Given the description of an element on the screen output the (x, y) to click on. 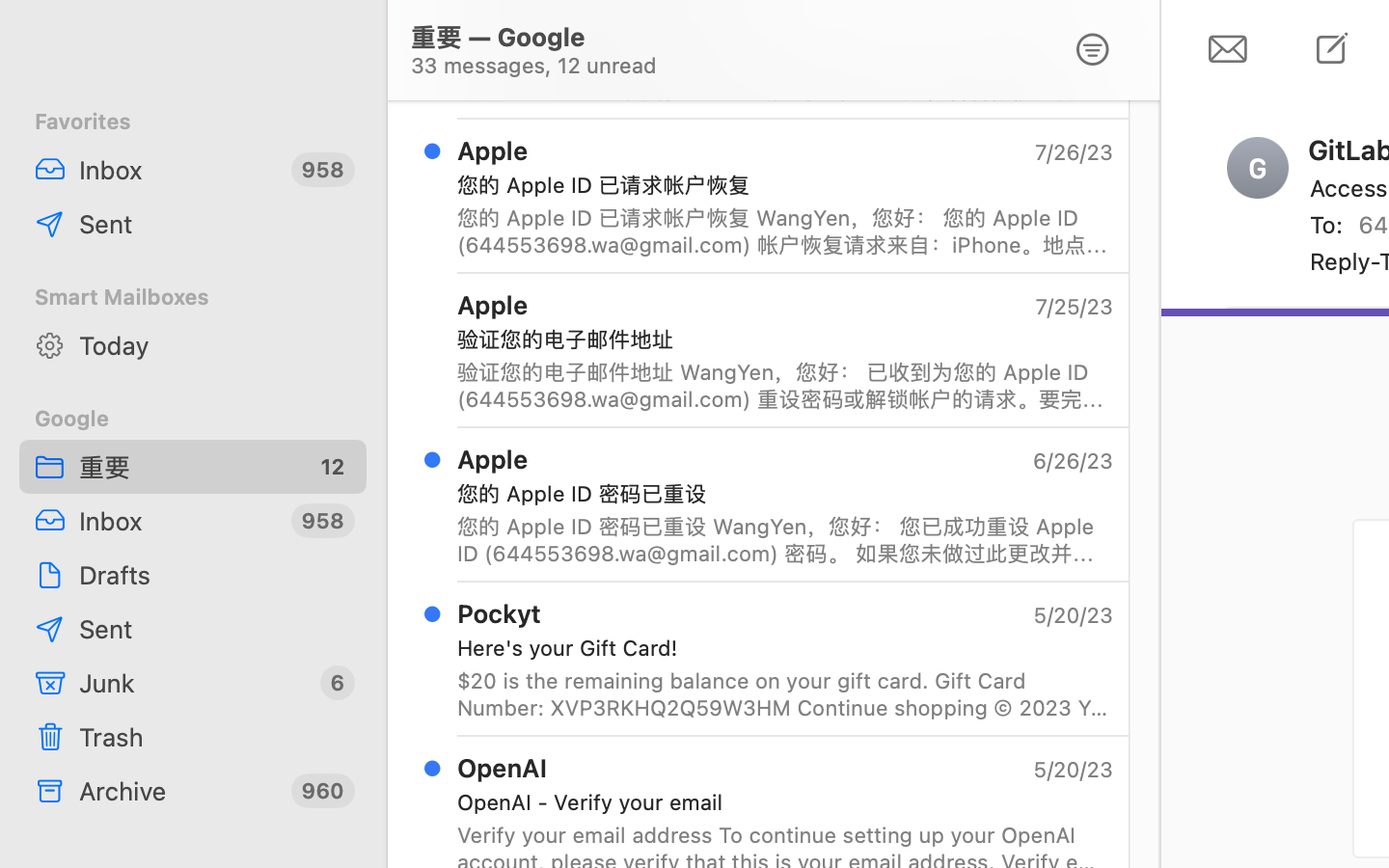
Here's your Gift Card! Element type: AXStaticText (777, 647)
